Given the description of an element on the screen output the (x, y) to click on. 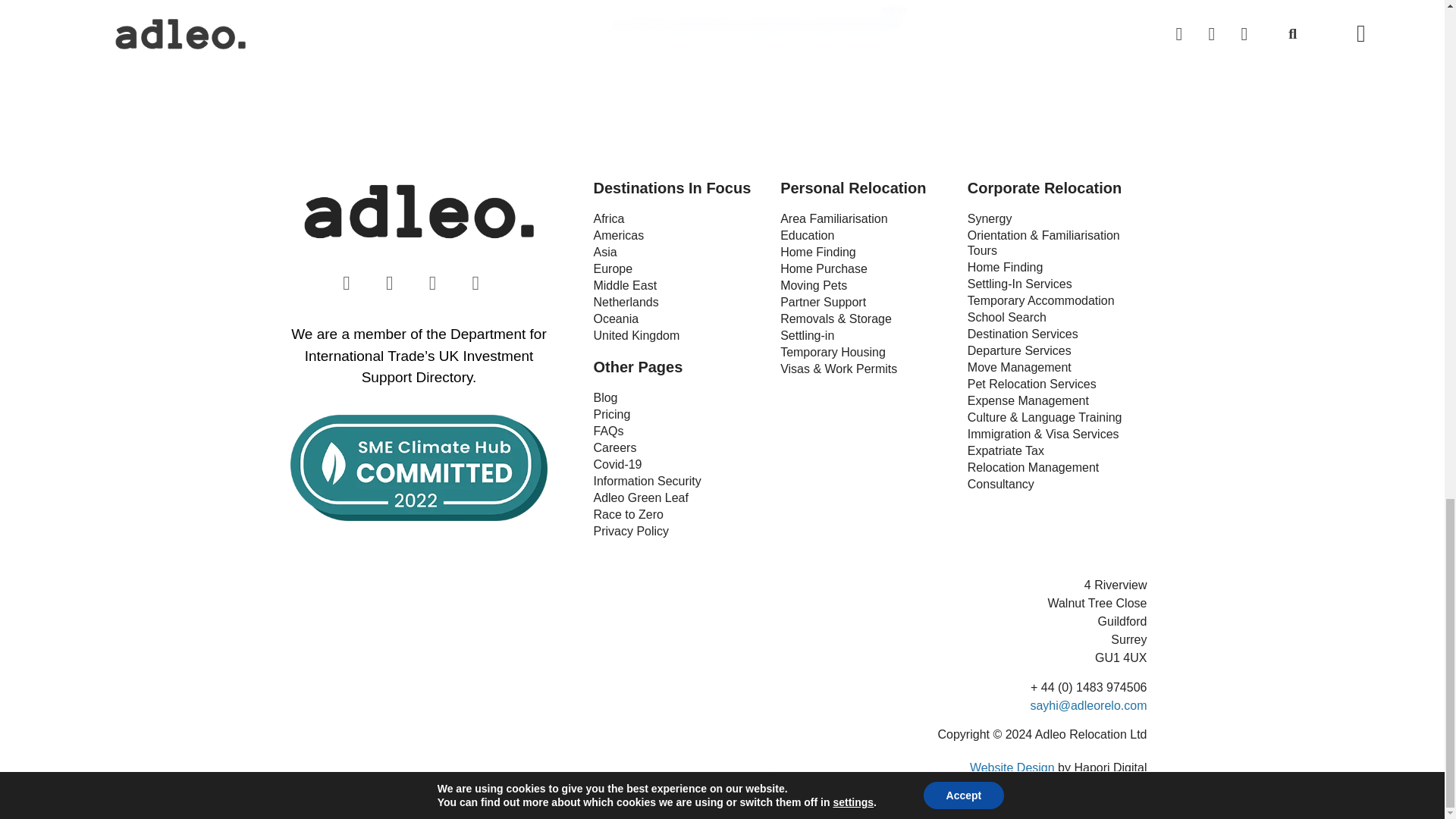
Middle East (678, 285)
Blog (678, 397)
Netherlands (678, 302)
Asia (678, 252)
Europe (678, 269)
Americas (678, 235)
Africa (678, 218)
Oceania (678, 319)
United Kingdom (678, 335)
